Given the description of an element on the screen output the (x, y) to click on. 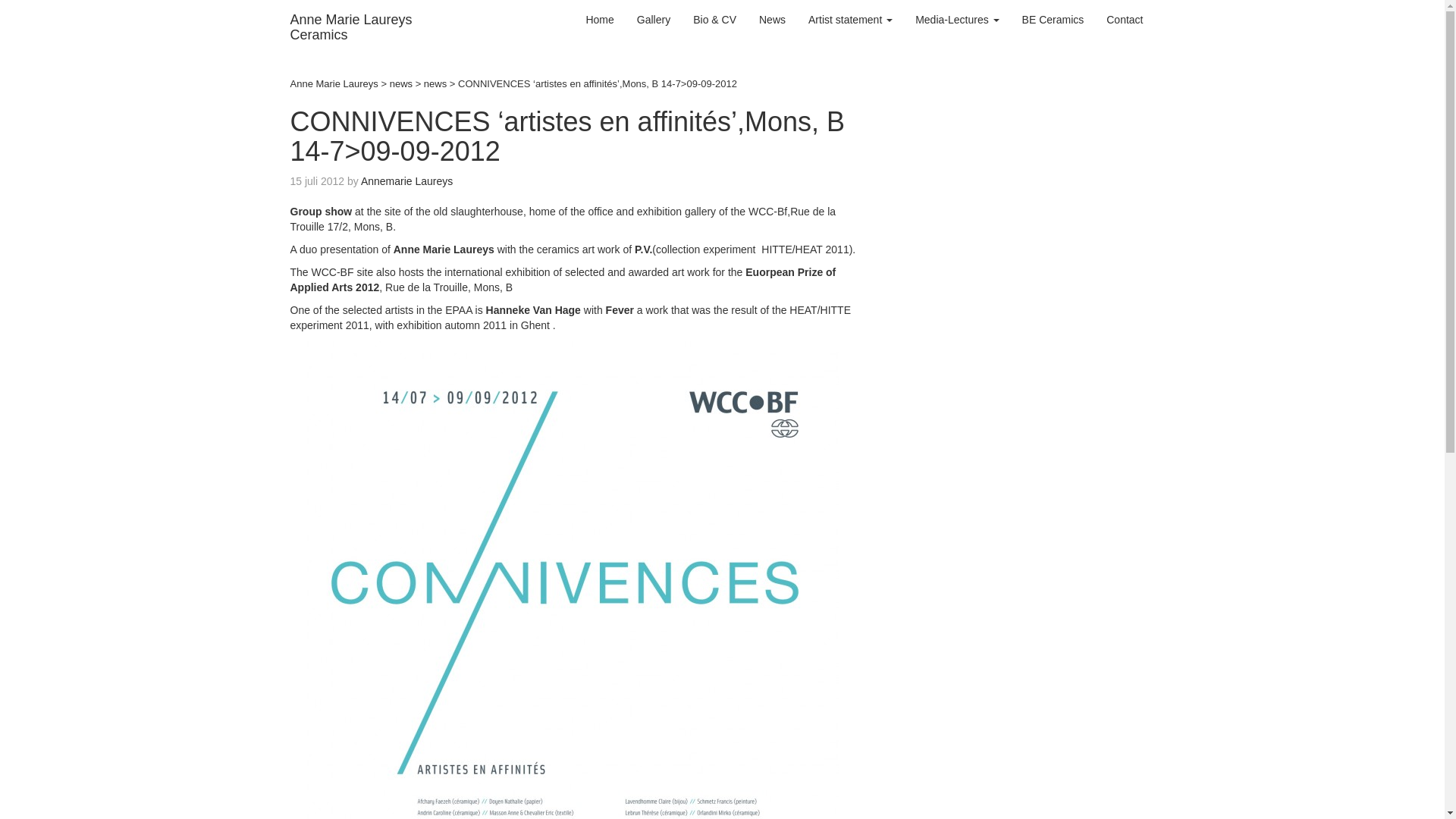
Anne Marie Laureys (351, 27)
Gallery (653, 19)
news (401, 83)
Artist statement (850, 19)
News (772, 19)
Artist statement (351, 27)
Gallery (850, 19)
Home (653, 19)
Media-Lectures (598, 19)
